Given the description of an element on the screen output the (x, y) to click on. 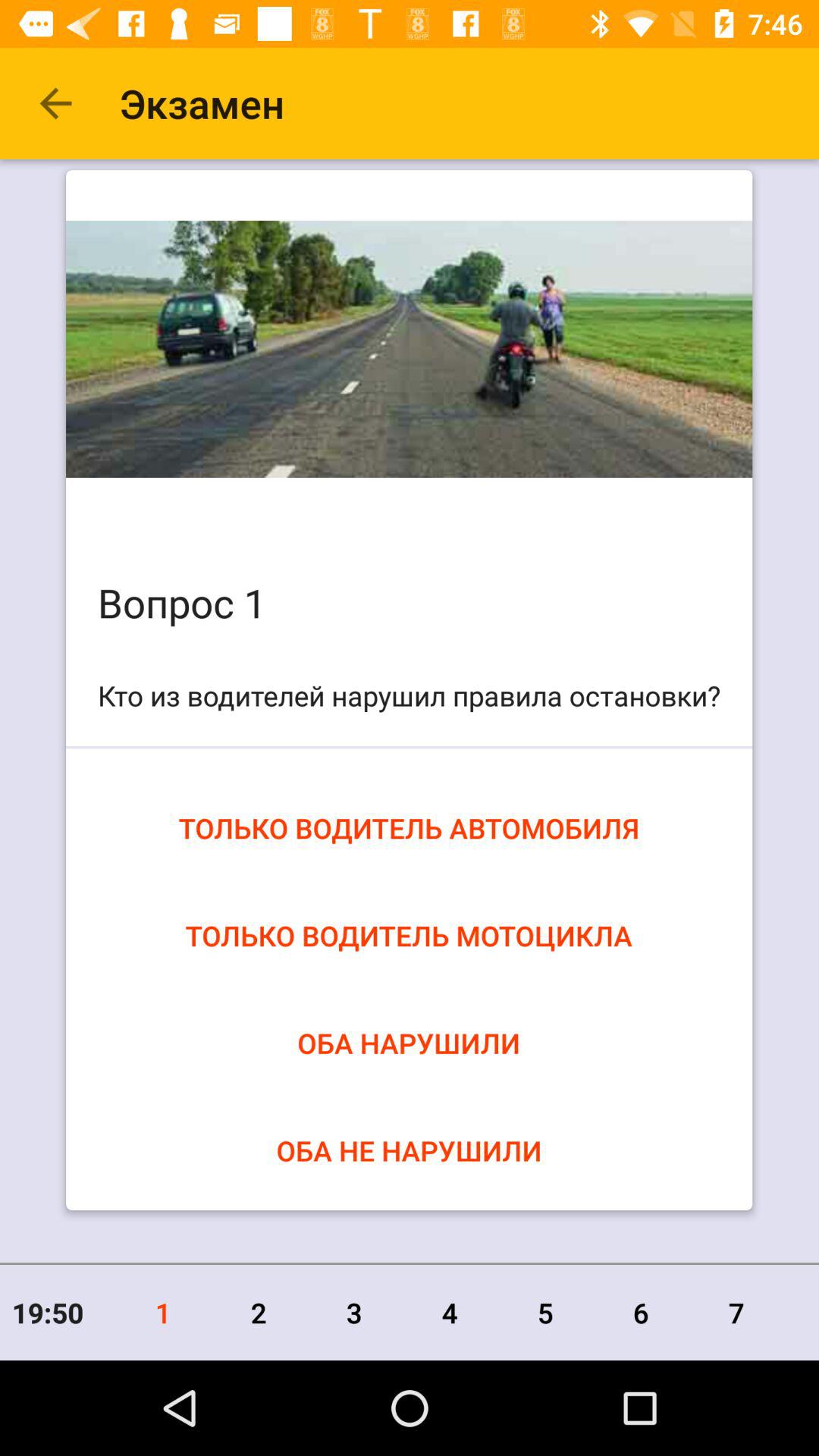
tap the icon next to 5 icon (640, 1312)
